Given the description of an element on the screen output the (x, y) to click on. 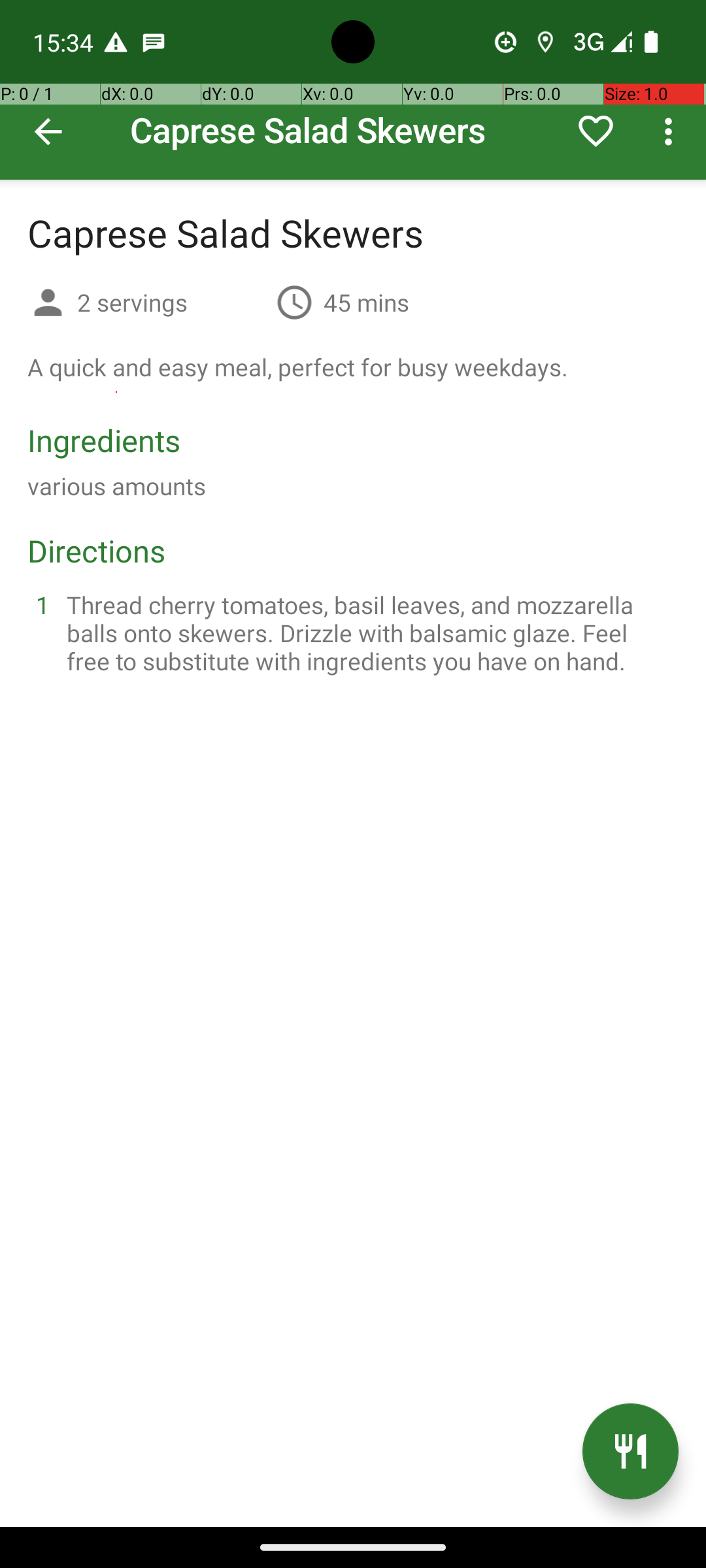
Thread cherry tomatoes, basil leaves, and mozzarella balls onto skewers. Drizzle with balsamic glaze. Feel free to substitute with ingredients you have on hand. Element type: android.widget.TextView (368, 632)
